Given the description of an element on the screen output the (x, y) to click on. 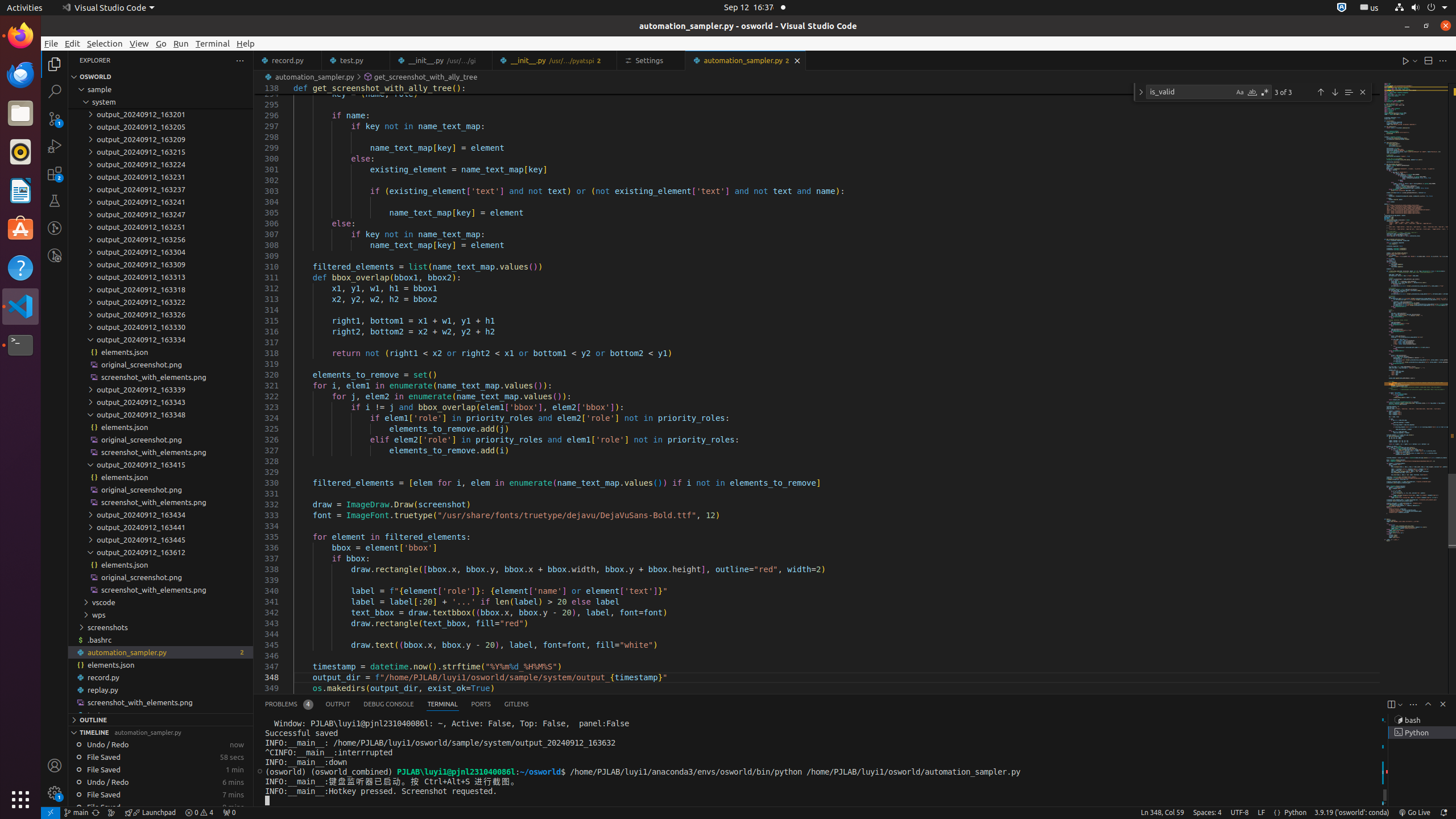
output_20240912_163612 Element type: tree-item (160, 552)
output_20240912_163318 Element type: tree-item (160, 289)
58 seconds: File Saved Element type: tree-item (160, 756)
screenshot_with_elements.png Element type: tree-item (160, 702)
